Given the description of an element on the screen output the (x, y) to click on. 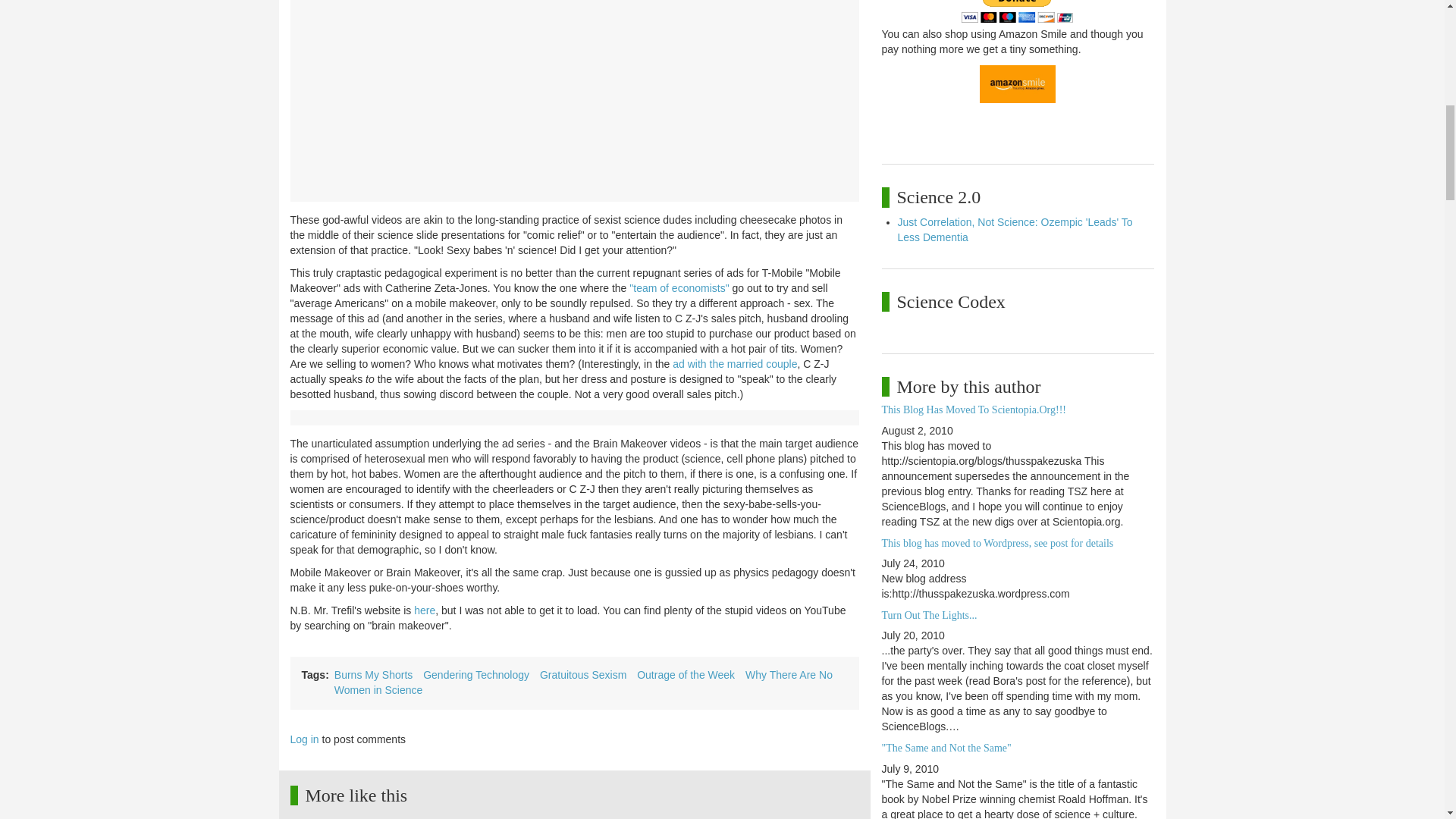
Gratuitous Sexism (583, 674)
PayPal - The safer, easier way to pay online! (1016, 11)
"team of economists" (678, 287)
Log in (303, 739)
Outrage of the Week (686, 674)
ad with the married couple (734, 363)
Burns My Shorts (373, 674)
Gendering Technology (476, 674)
Why There Are No Women in Science (583, 682)
here (424, 610)
Advertisement (573, 110)
